Given the description of an element on the screen output the (x, y) to click on. 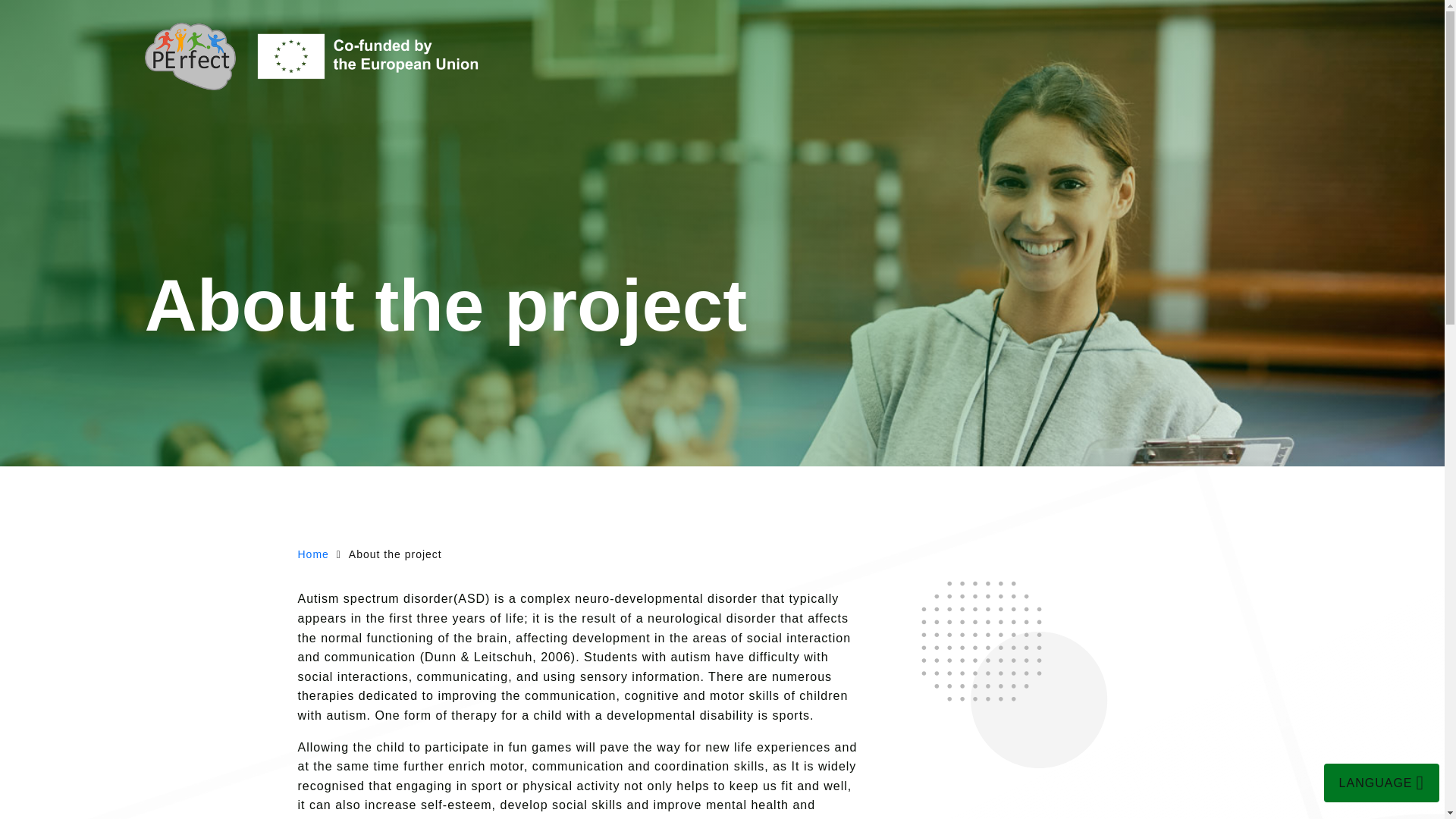
LANGUAGE (1381, 782)
Home (313, 554)
Home (313, 554)
